Given the description of an element on the screen output the (x, y) to click on. 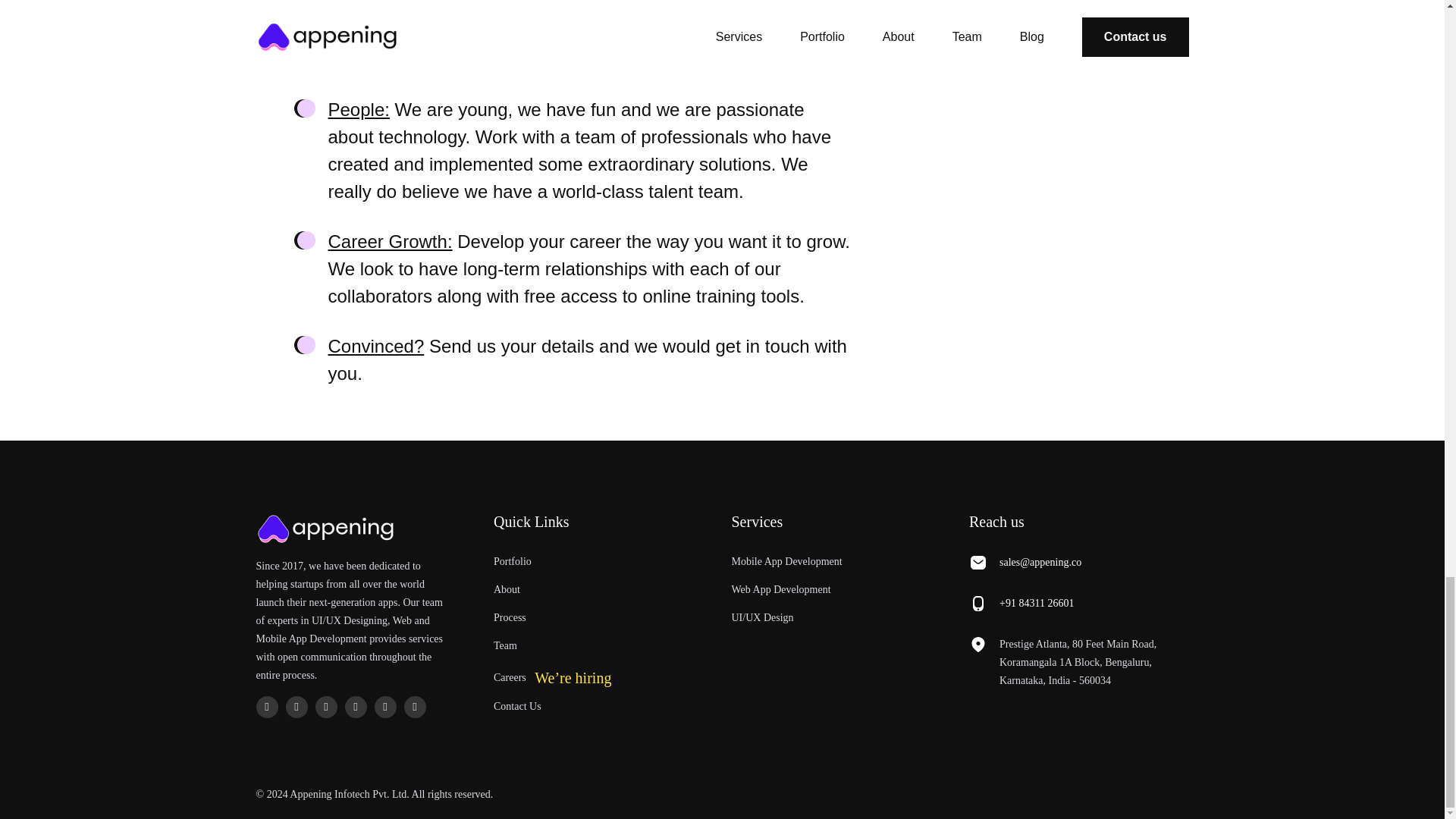
About (506, 589)
Mobile App Development (785, 561)
Portfolio (512, 561)
Process (509, 617)
Team (504, 645)
Web App Development (779, 589)
Contact Us (517, 706)
